Given the description of an element on the screen output the (x, y) to click on. 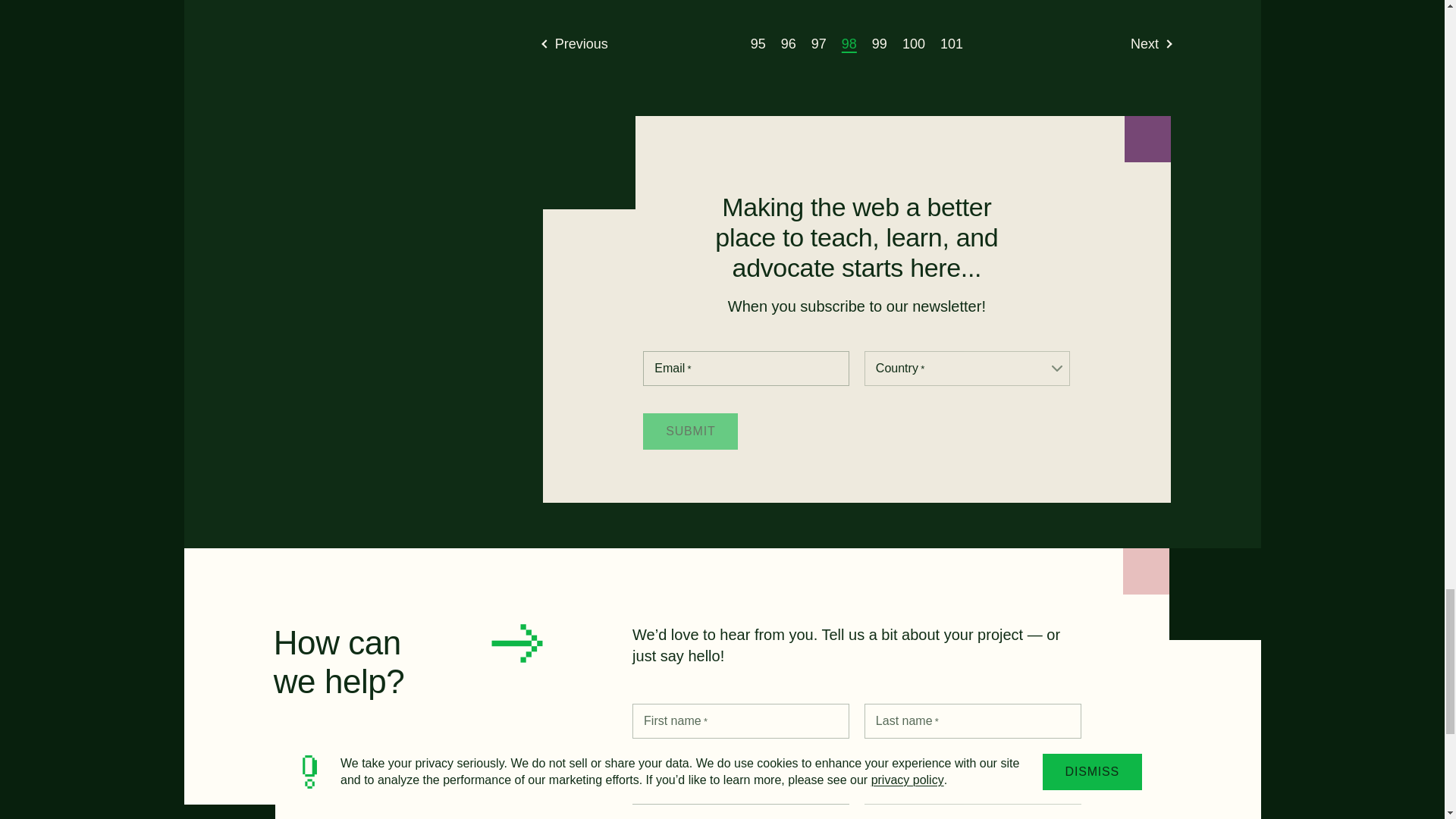
Previous (575, 43)
Submit (690, 431)
